Given the description of an element on the screen output the (x, y) to click on. 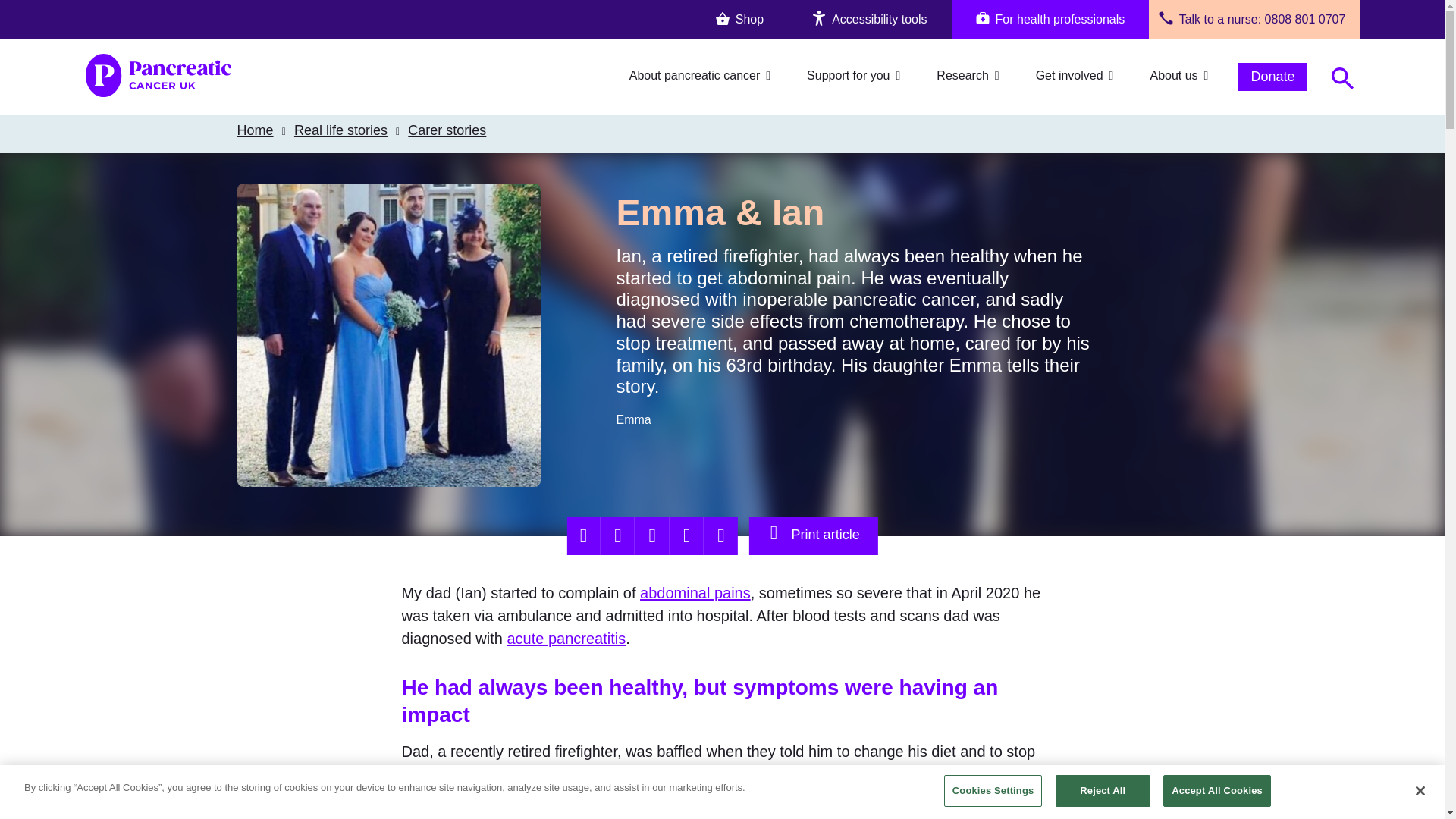
Share on Facebook (582, 535)
For health professionals (1051, 19)
Share by Email (721, 535)
Shop (739, 19)
Accessibility tools (868, 19)
Share on Twitter (617, 535)
Pancreatic Cancer UK (157, 76)
Share on WhatsApp (686, 535)
Support for you (853, 77)
Talk to a nurse (1218, 19)
Print article (813, 532)
About pancreatic cancer (700, 77)
0808 801 0707 (1305, 19)
Share on Linkedin (651, 535)
